Given the description of an element on the screen output the (x, y) to click on. 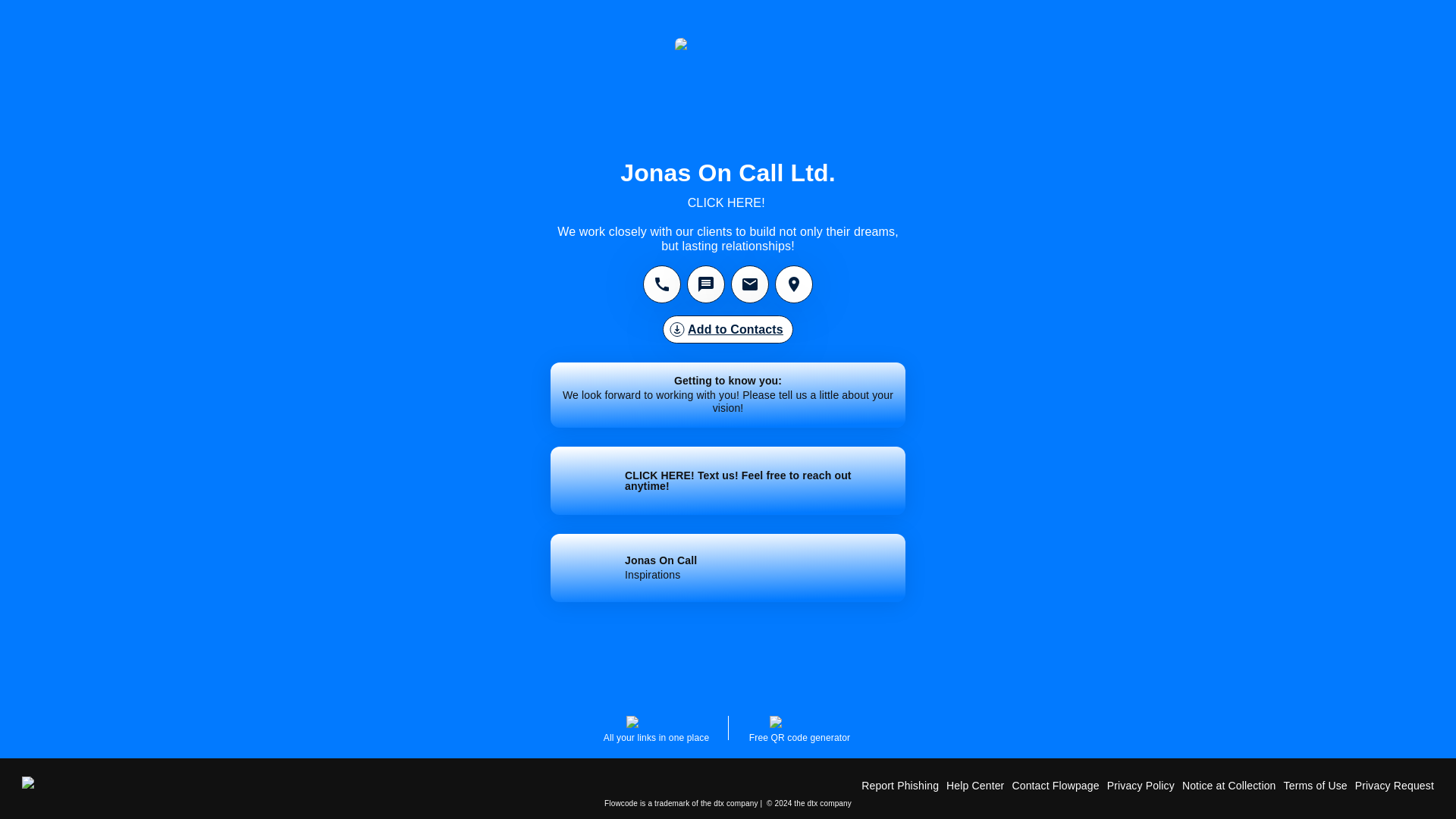
Report Phishing (900, 785)
Contact Flowpage (1055, 785)
Privacy Request (1394, 785)
Help Center (975, 785)
Notice at Collection (1229, 785)
Privacy Policy (727, 567)
CLICK HERE! Text us! Feel free to reach out anytime! (1140, 785)
Free QR code generator (727, 480)
All your links in one place (799, 729)
